Given the description of an element on the screen output the (x, y) to click on. 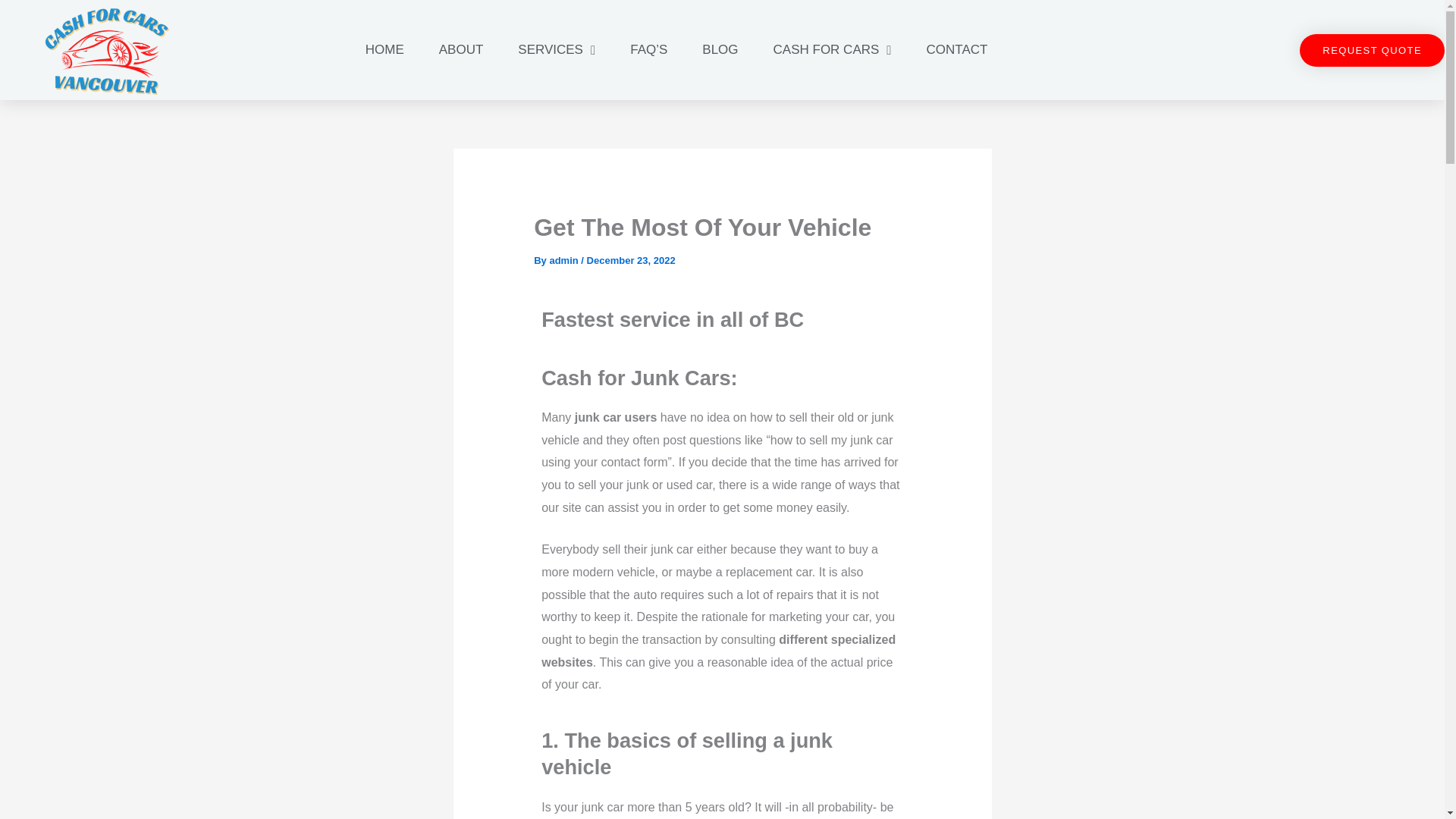
HOME (384, 50)
ABOUT (461, 50)
CASH FOR CARS (832, 50)
BLOG (719, 50)
View all posts by admin (564, 260)
SERVICES (556, 50)
